Given the description of an element on the screen output the (x, y) to click on. 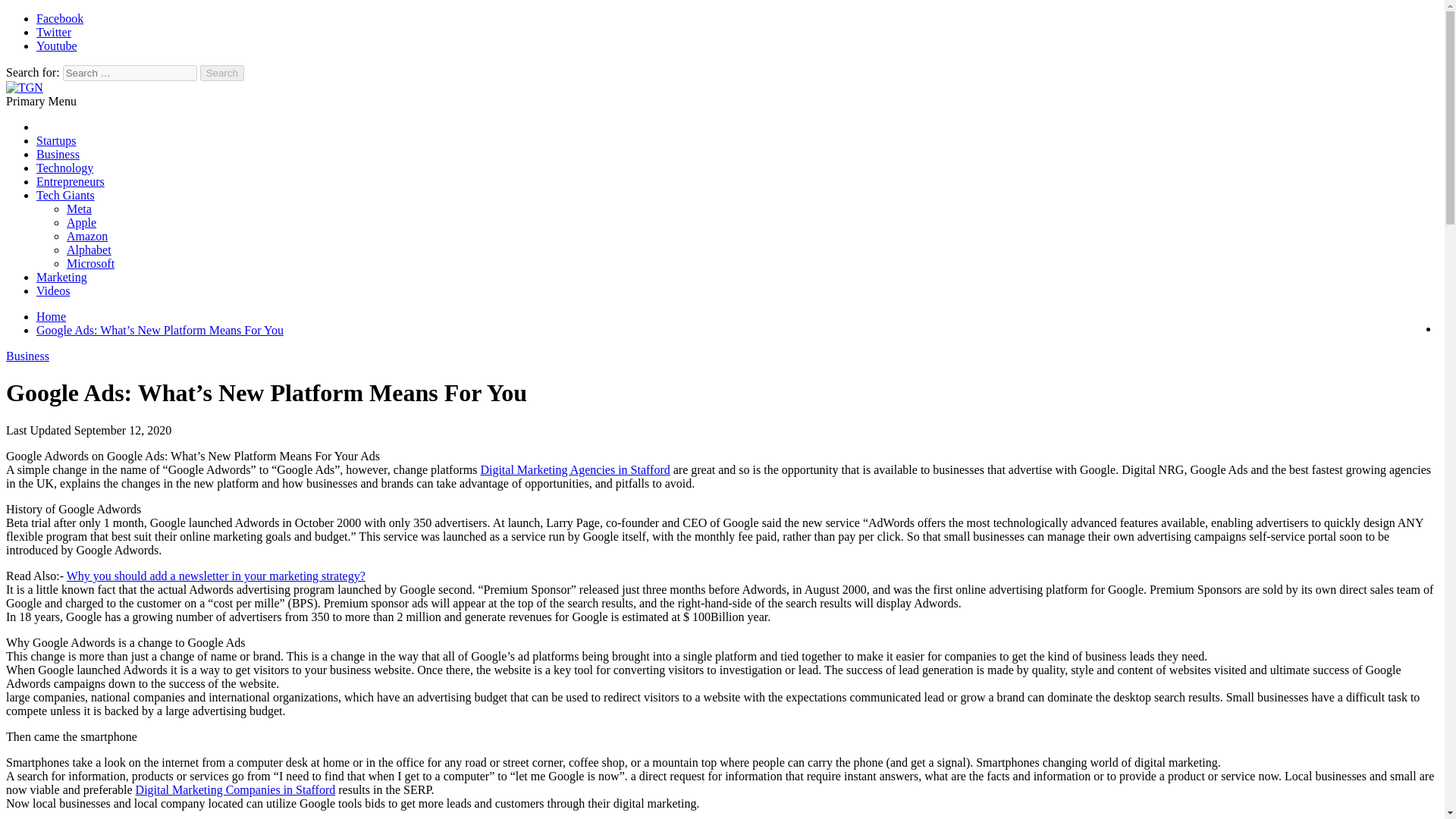
Technology (64, 167)
Meta (78, 208)
Marketing (61, 277)
Business (27, 355)
Amazon (86, 236)
Facebook (59, 18)
Digital Marketing Agencies in Stafford (574, 469)
Entrepreneurs (70, 181)
Digital Marketing Companies in Stafford (235, 789)
Startups (55, 140)
Alphabet (89, 249)
Search (222, 73)
Search (222, 73)
Search (222, 73)
Tech Giants (65, 195)
